Given the description of an element on the screen output the (x, y) to click on. 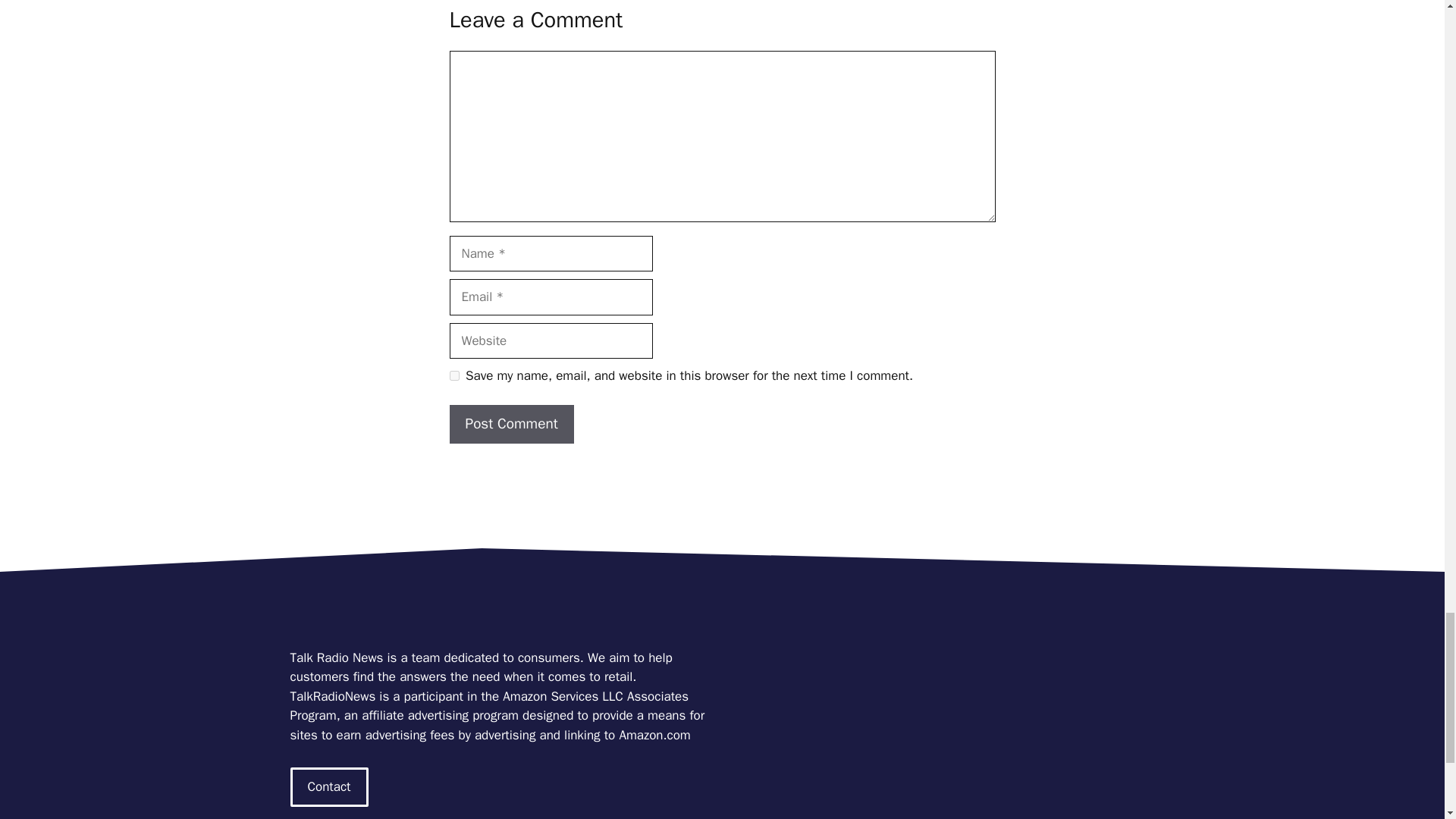
Post Comment (510, 423)
yes (453, 375)
Contact (328, 786)
Post Comment (510, 423)
